Given the description of an element on the screen output the (x, y) to click on. 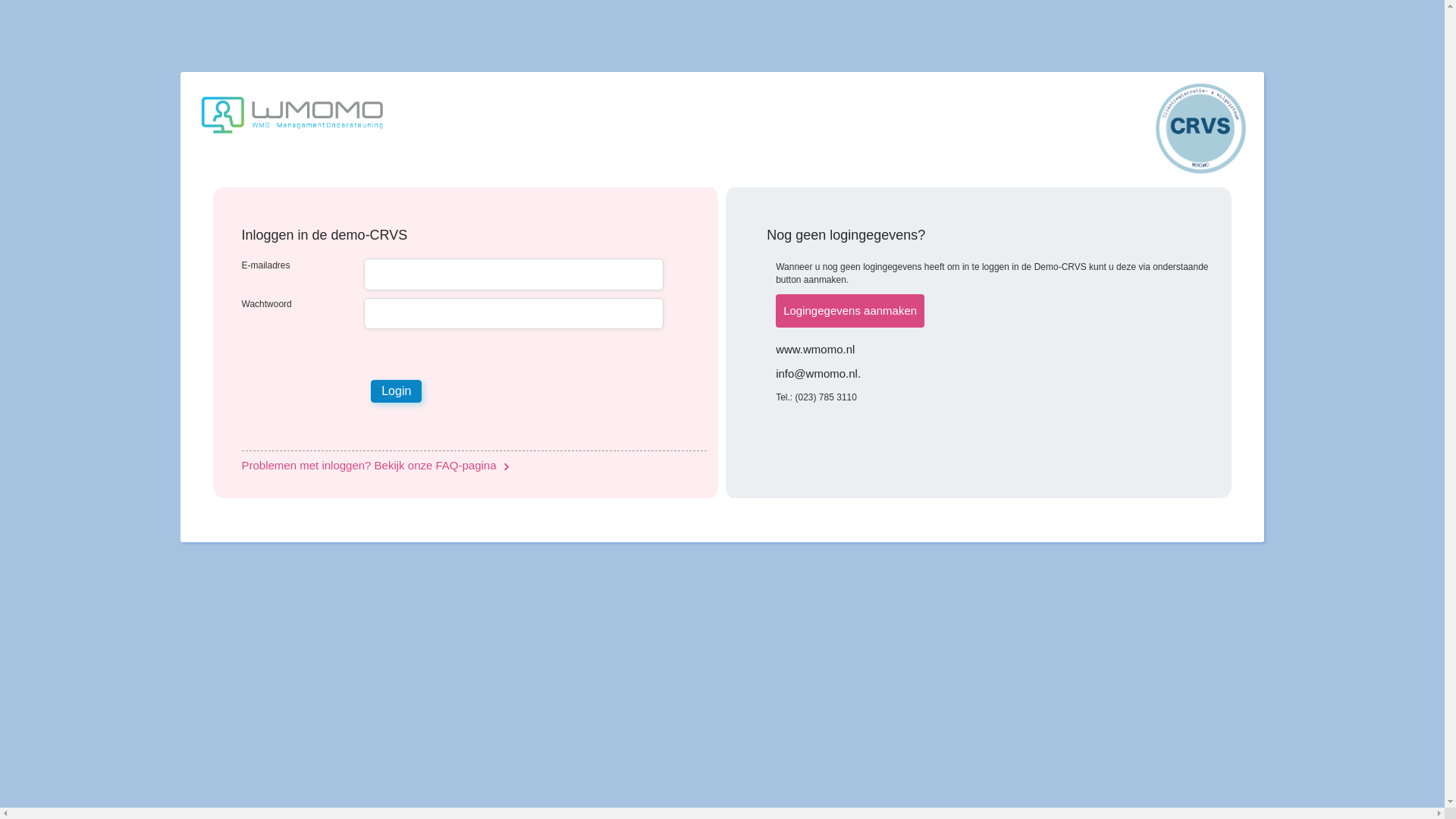
info@wmomo.nl. Element type: text (997, 373)
Problemen met inloggen? Bekijk onze FAQ-pagina Element type: text (473, 464)
Login Element type: text (395, 390)
Logingegevens aanmaken Element type: text (849, 310)
www.wmomo.nl Element type: text (997, 348)
